Given the description of an element on the screen output the (x, y) to click on. 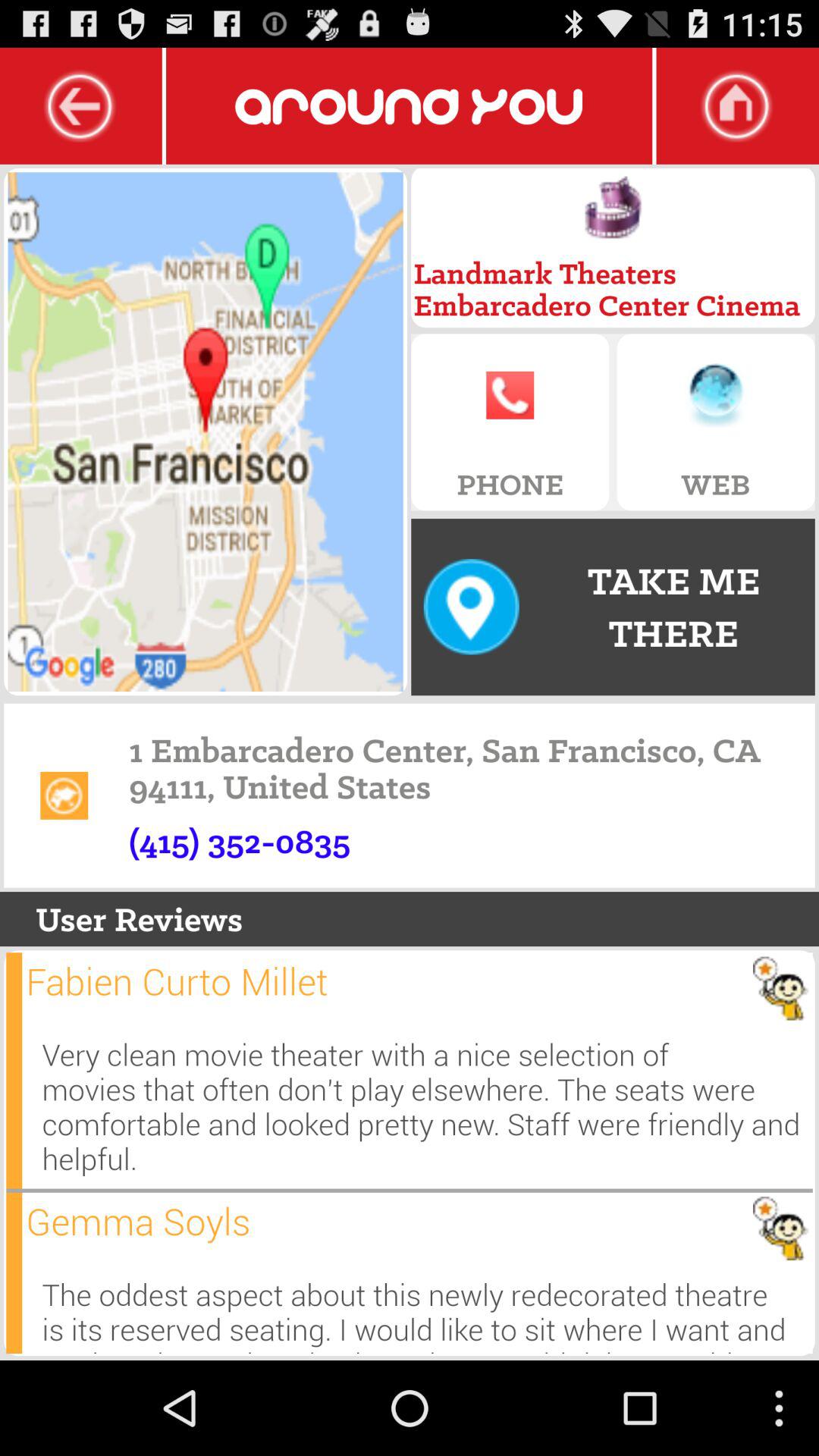
press very clean movie icon (427, 1106)
